Given the description of an element on the screen output the (x, y) to click on. 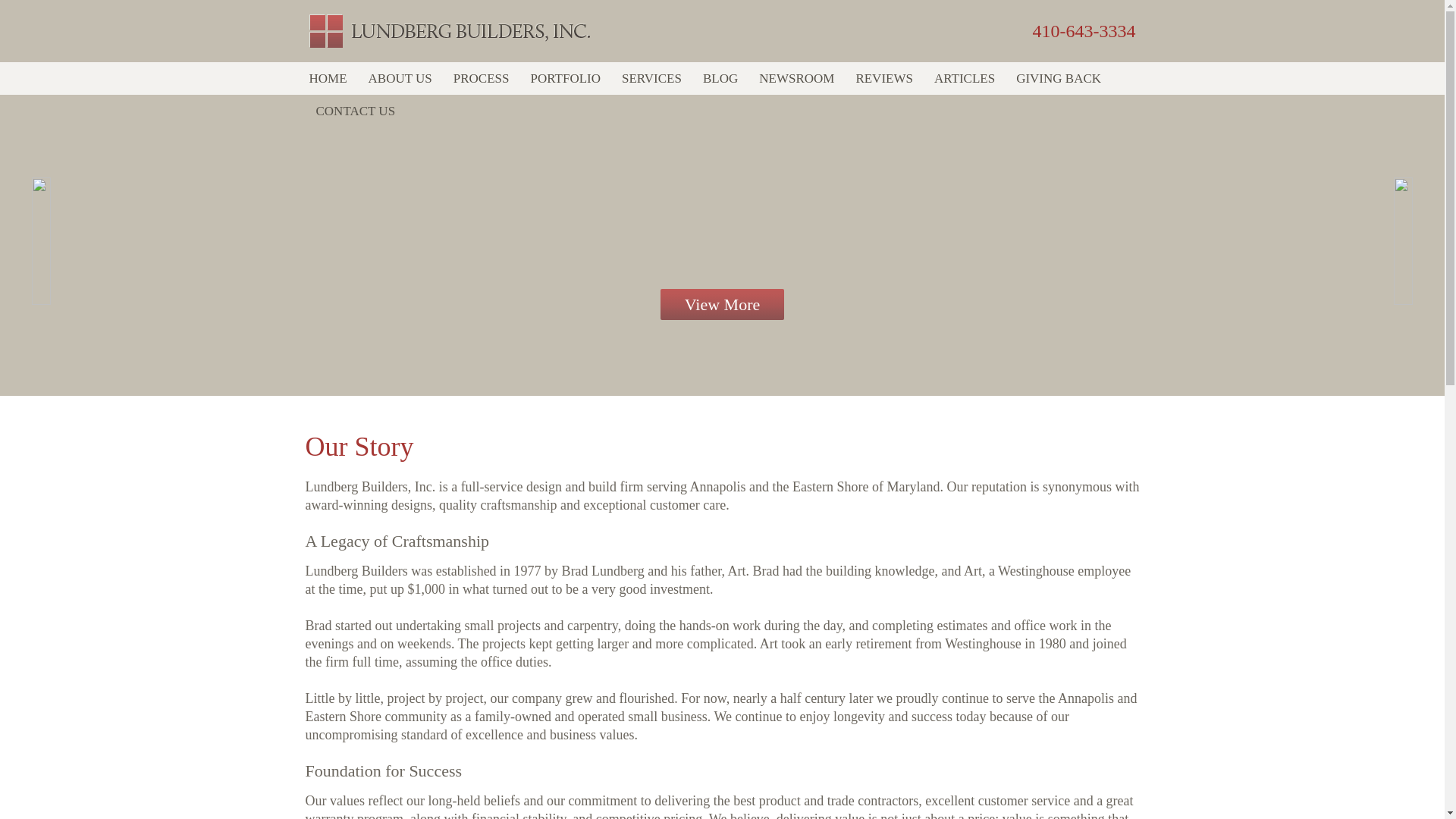
View More (722, 304)
ABOUT US (400, 78)
PORTFOLIO (566, 78)
HOME (327, 78)
NEWSROOM (796, 78)
GIVING BACK (1058, 78)
BLOG (720, 78)
PROCESS (480, 78)
ARTICLES (964, 78)
SERVICES (651, 78)
CONTACT US (354, 111)
REVIEWS (884, 78)
